Given the description of an element on the screen output the (x, y) to click on. 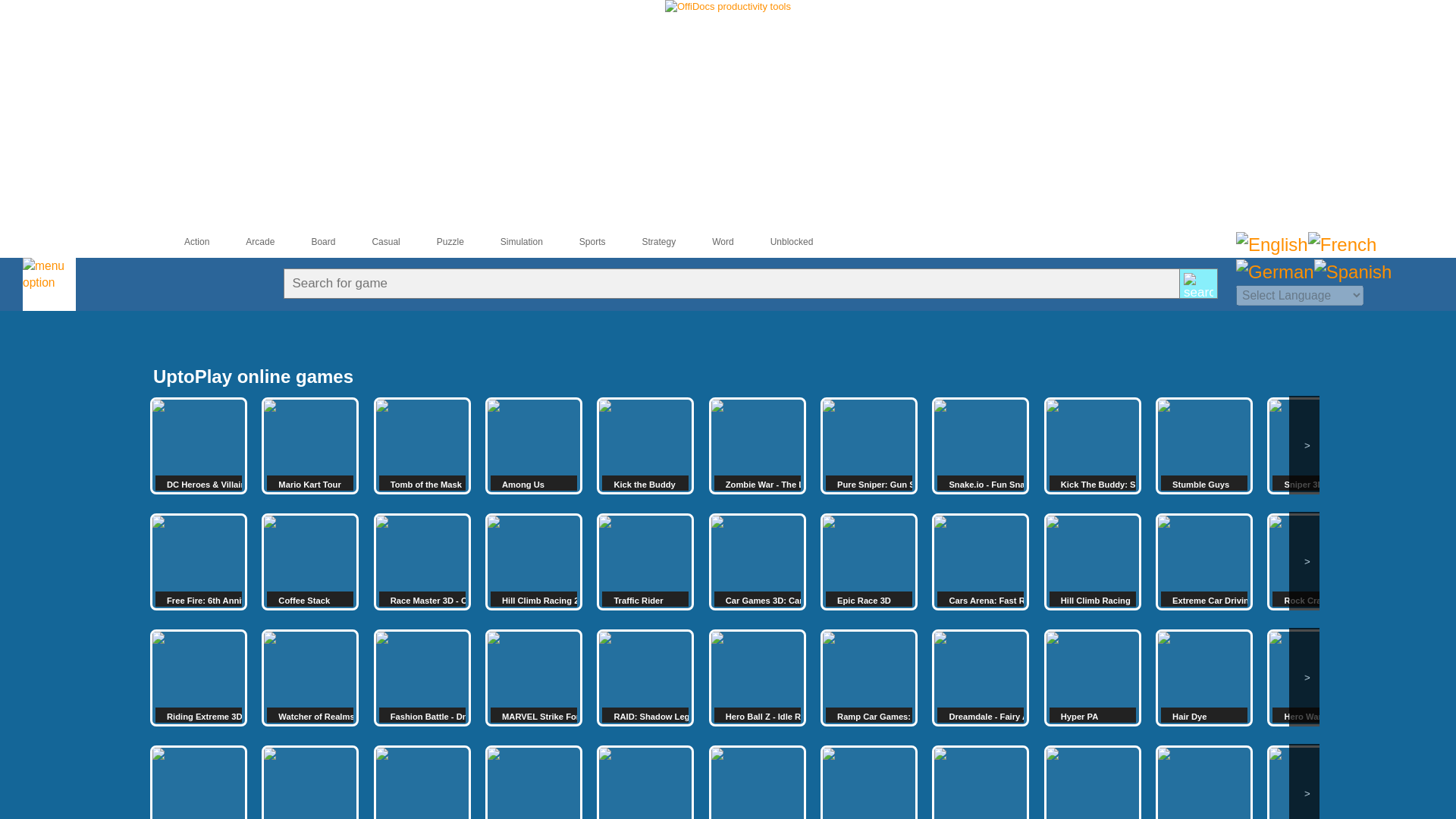
Snake.io - Fun Snake .io Games (980, 445)
Unblocked Games Premium (778, 241)
Casual games online (371, 241)
Kick the Buddy (645, 445)
Sports (579, 241)
English (1271, 244)
Kick The Buddy: Second Kick (1092, 445)
Strategy (646, 241)
Puzzle games online (437, 241)
Pure Sniper: Gun Shooter Games (869, 445)
